Given the description of an element on the screen output the (x, y) to click on. 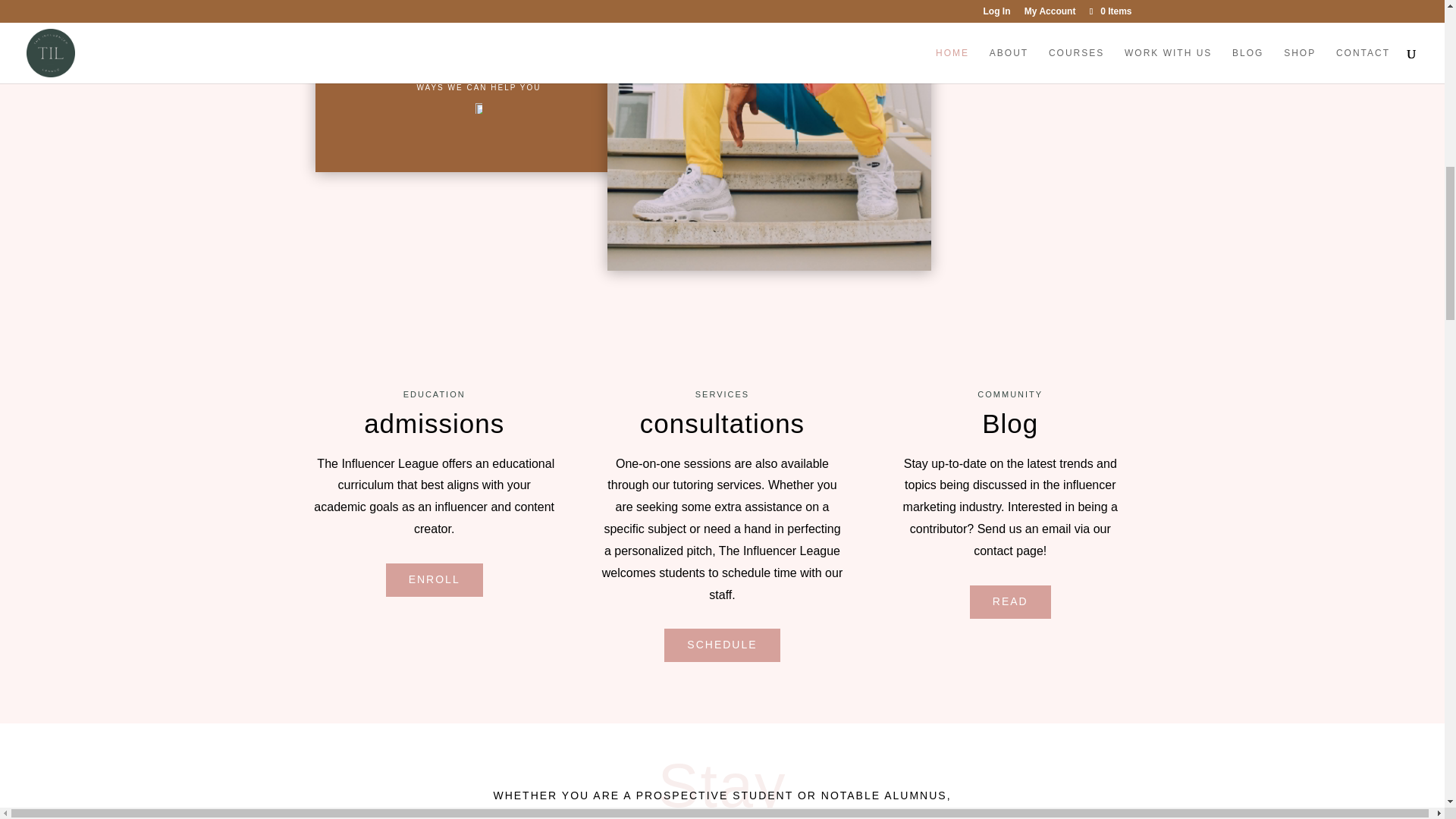
SCHEDULE (720, 644)
ENROLL (434, 580)
READ (1010, 602)
pexels-jeremyhann-2666725 (769, 135)
